Given the description of an element on the screen output the (x, y) to click on. 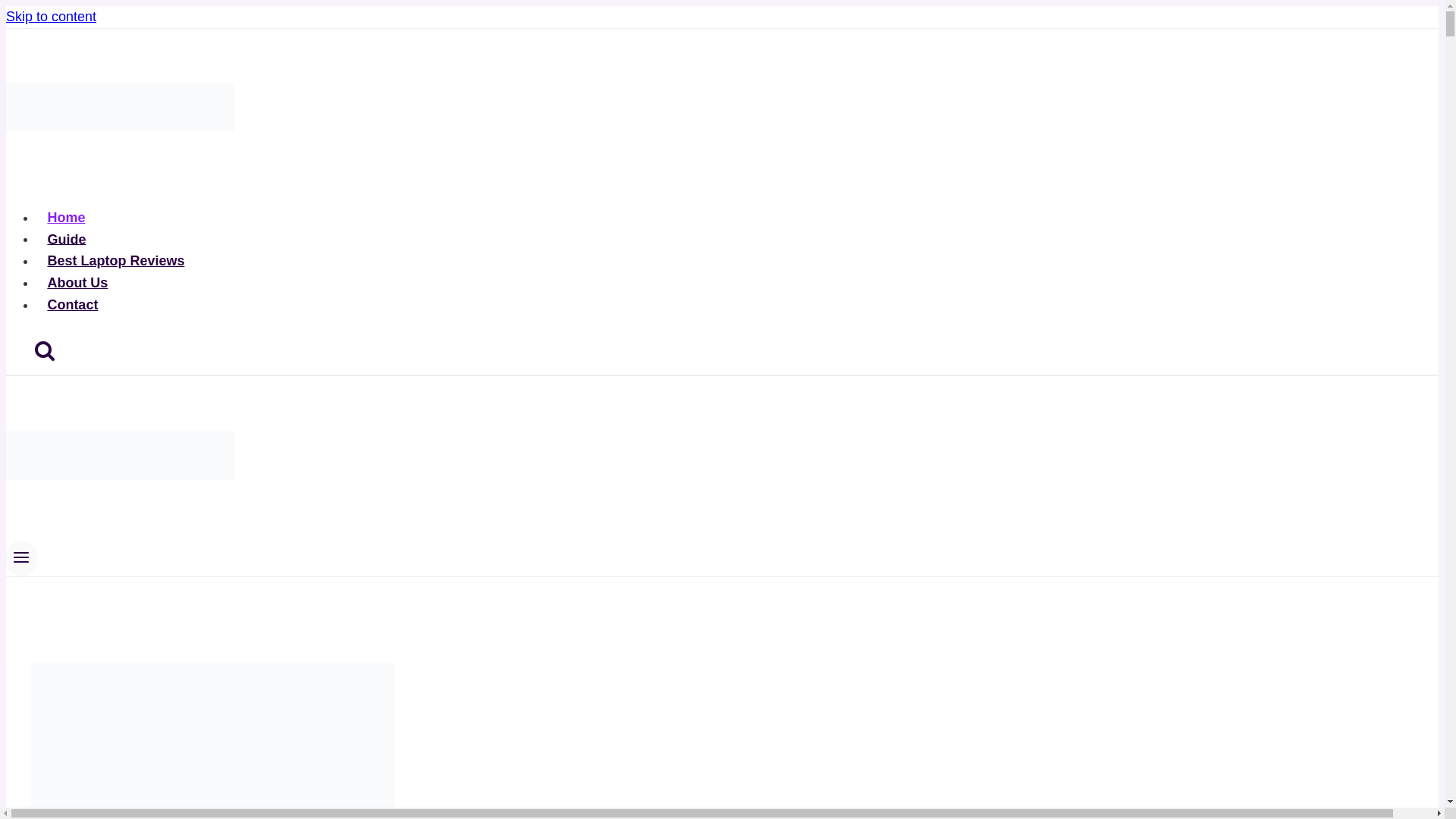
About Us (77, 282)
Toggle Menu (20, 556)
Toggle Menu (21, 558)
Home (66, 217)
Skip to content (50, 16)
Search (44, 352)
Best Laptop Reviews (115, 260)
Search (44, 350)
Guide (66, 239)
Skip to content (50, 16)
Contact (72, 305)
